Given the description of an element on the screen output the (x, y) to click on. 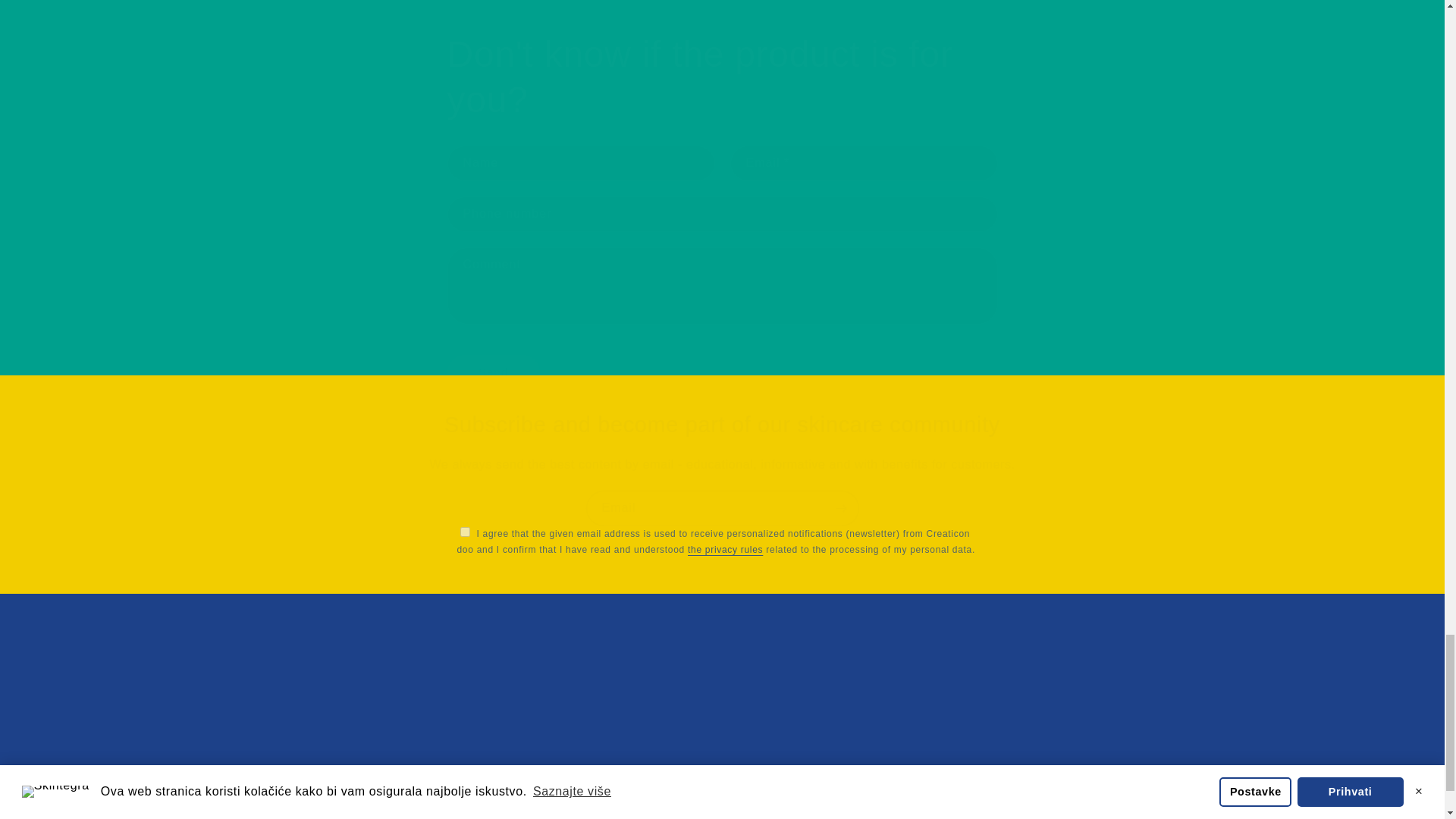
Email (722, 508)
on (464, 532)
Subscribe and become part of our skincare community (721, 424)
Don't know if the product is for you? (721, 76)
